Given the description of an element on the screen output the (x, y) to click on. 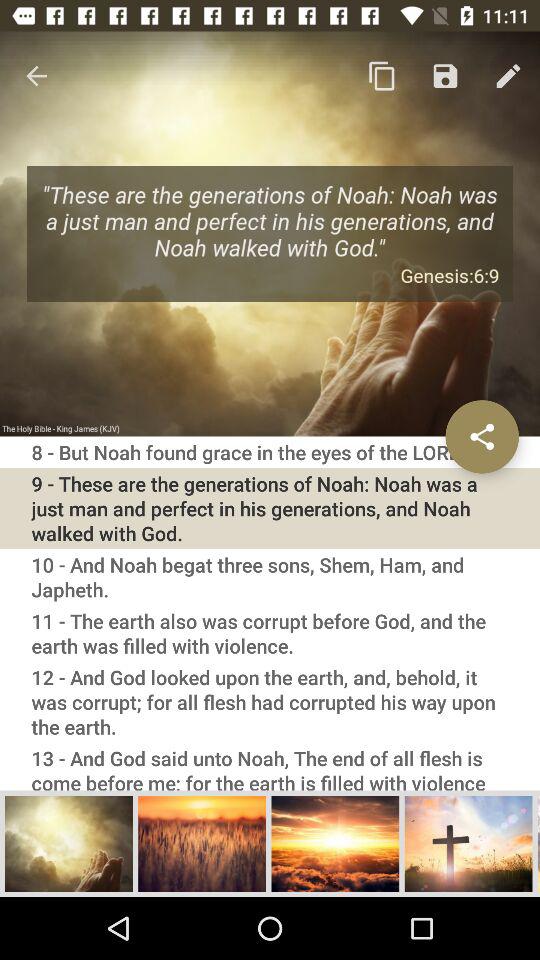
picture far right (468, 843)
